Given the description of an element on the screen output the (x, y) to click on. 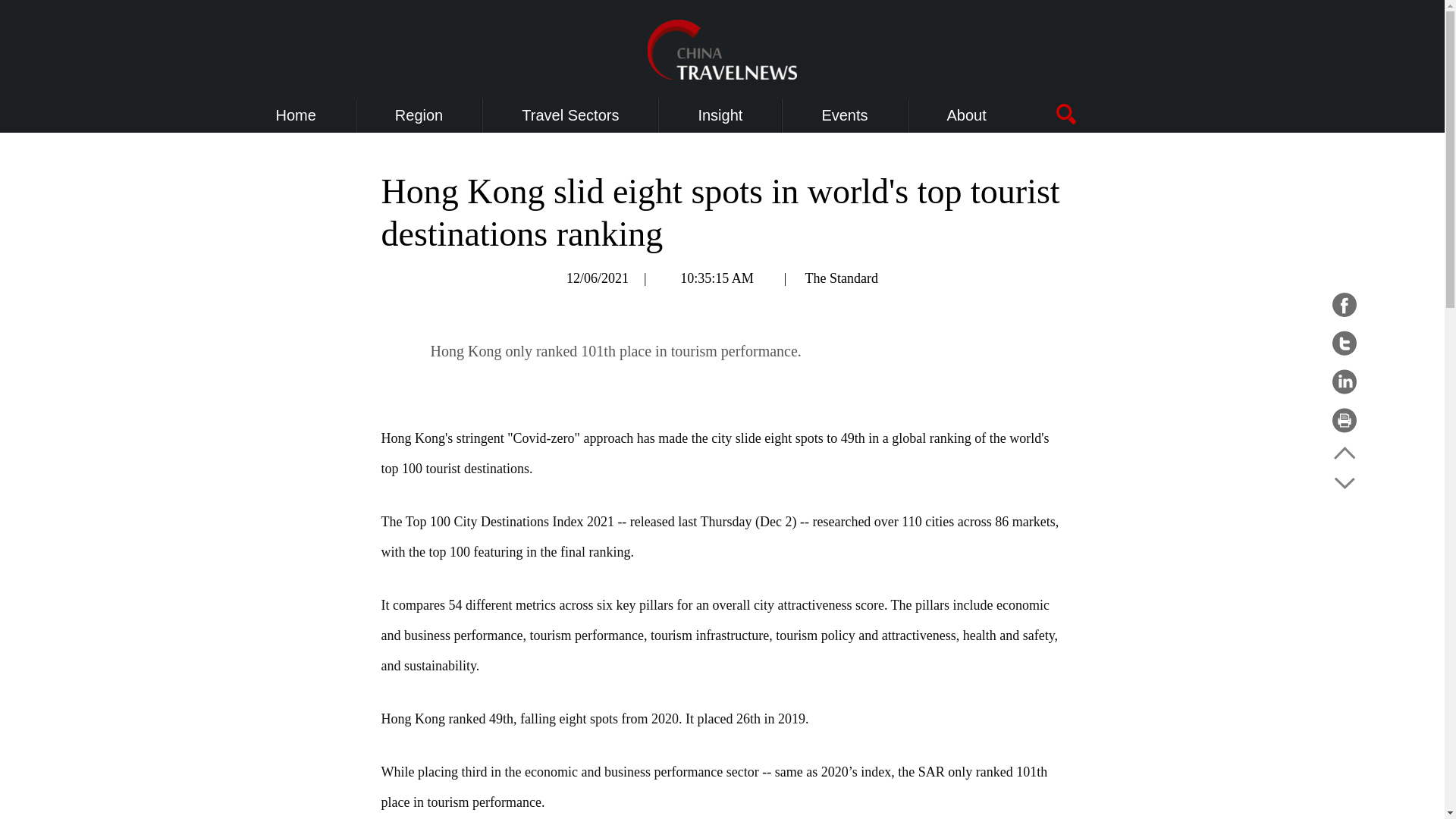
About (967, 115)
Events (844, 115)
Home (295, 115)
